Given the description of an element on the screen output the (x, y) to click on. 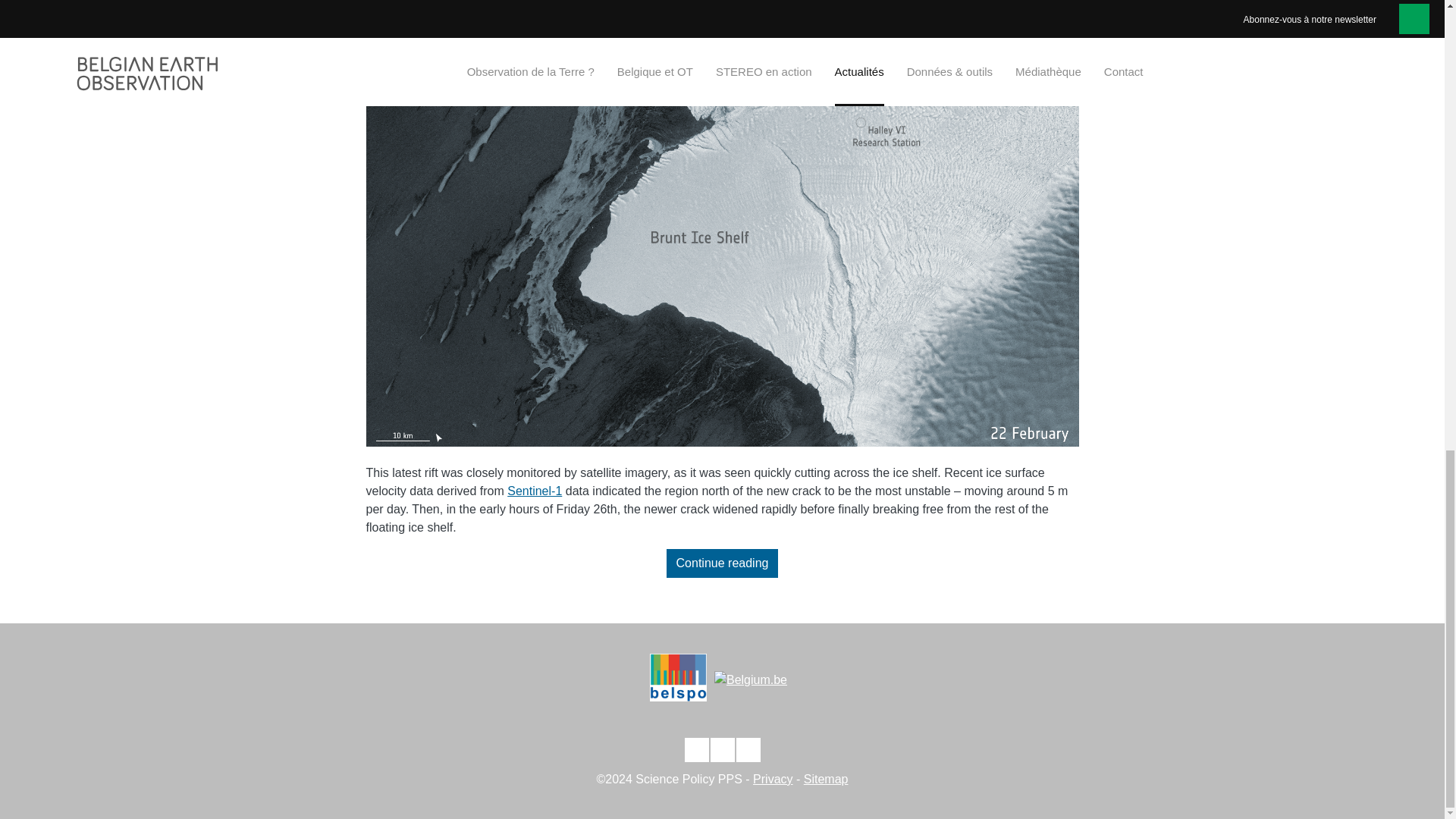
Sentinel-1 (534, 490)
Privacy (772, 779)
Sitemap (825, 779)
Belgian Science Policy Office (681, 683)
Belgium.be (750, 679)
Continue reading (722, 563)
